Given the description of an element on the screen output the (x, y) to click on. 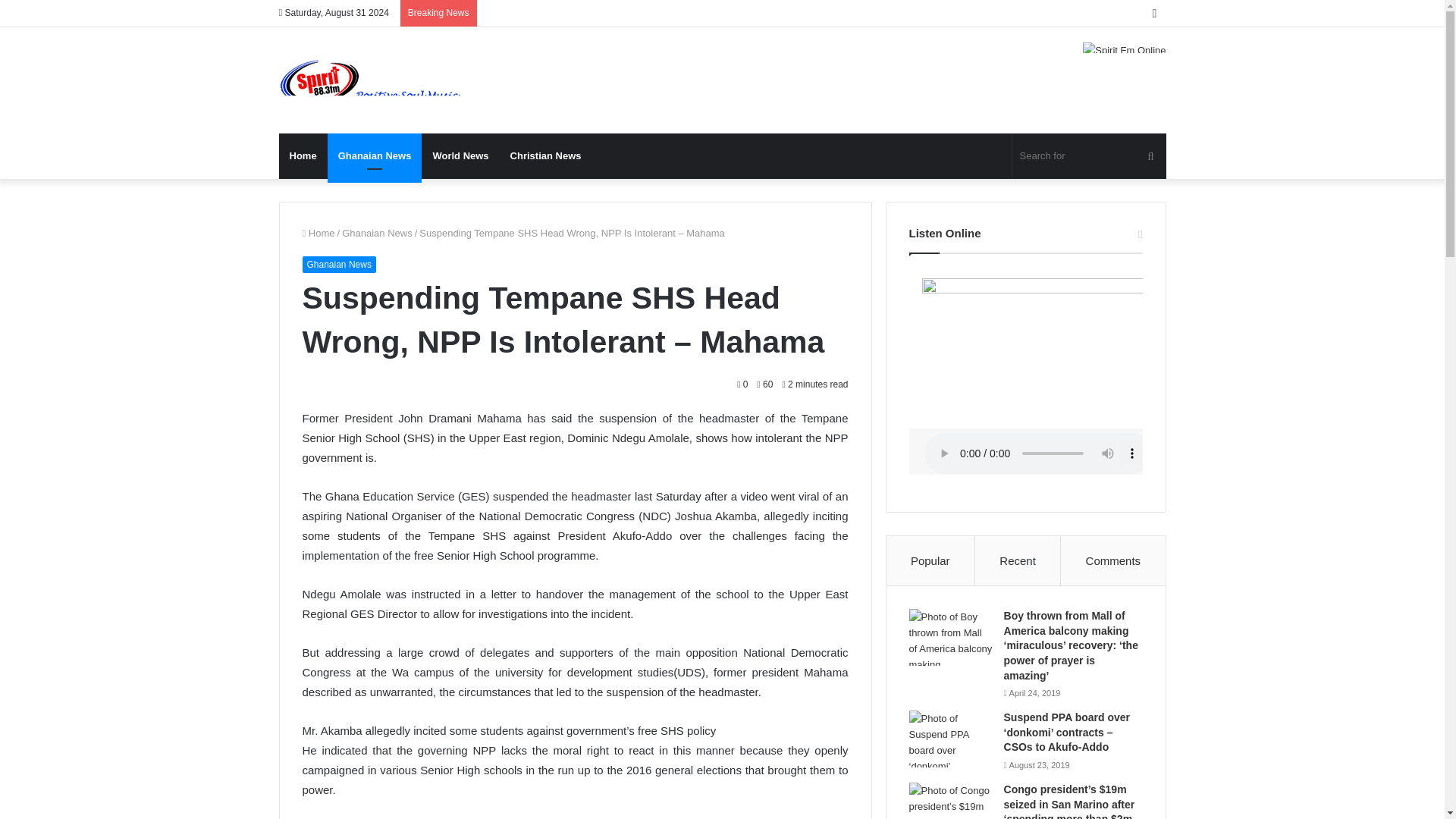
World News (460, 156)
Christian News (545, 156)
Spirit Fm (370, 80)
Home (317, 233)
Ghanaian News (338, 264)
Ghanaian News (374, 156)
Search for (1088, 156)
Home (303, 156)
Ghanaian News (377, 233)
